Given the description of an element on the screen output the (x, y) to click on. 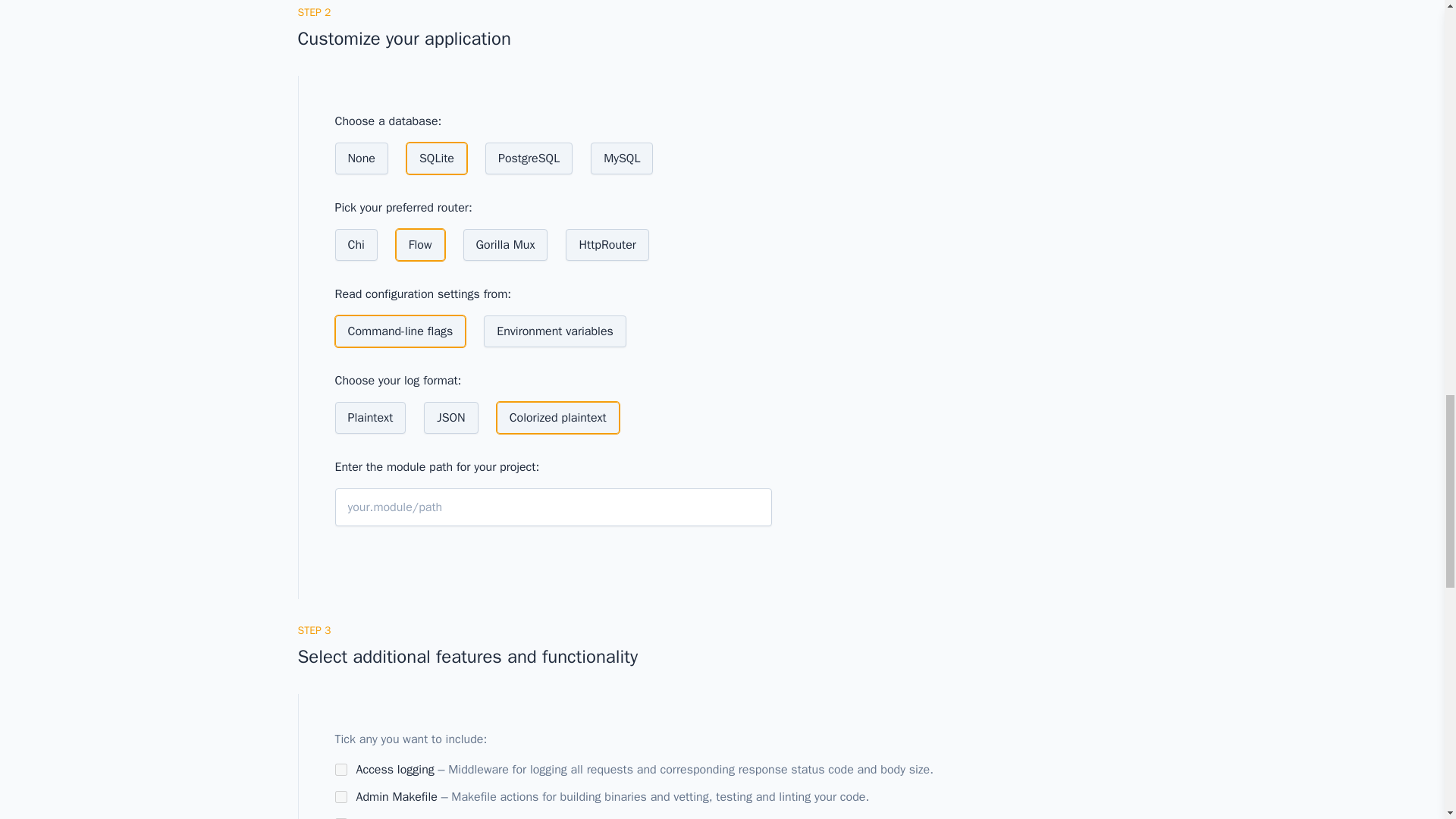
adminmakefile (340, 797)
version control system (540, 817)
accesslog (340, 769)
